Given the description of an element on the screen output the (x, y) to click on. 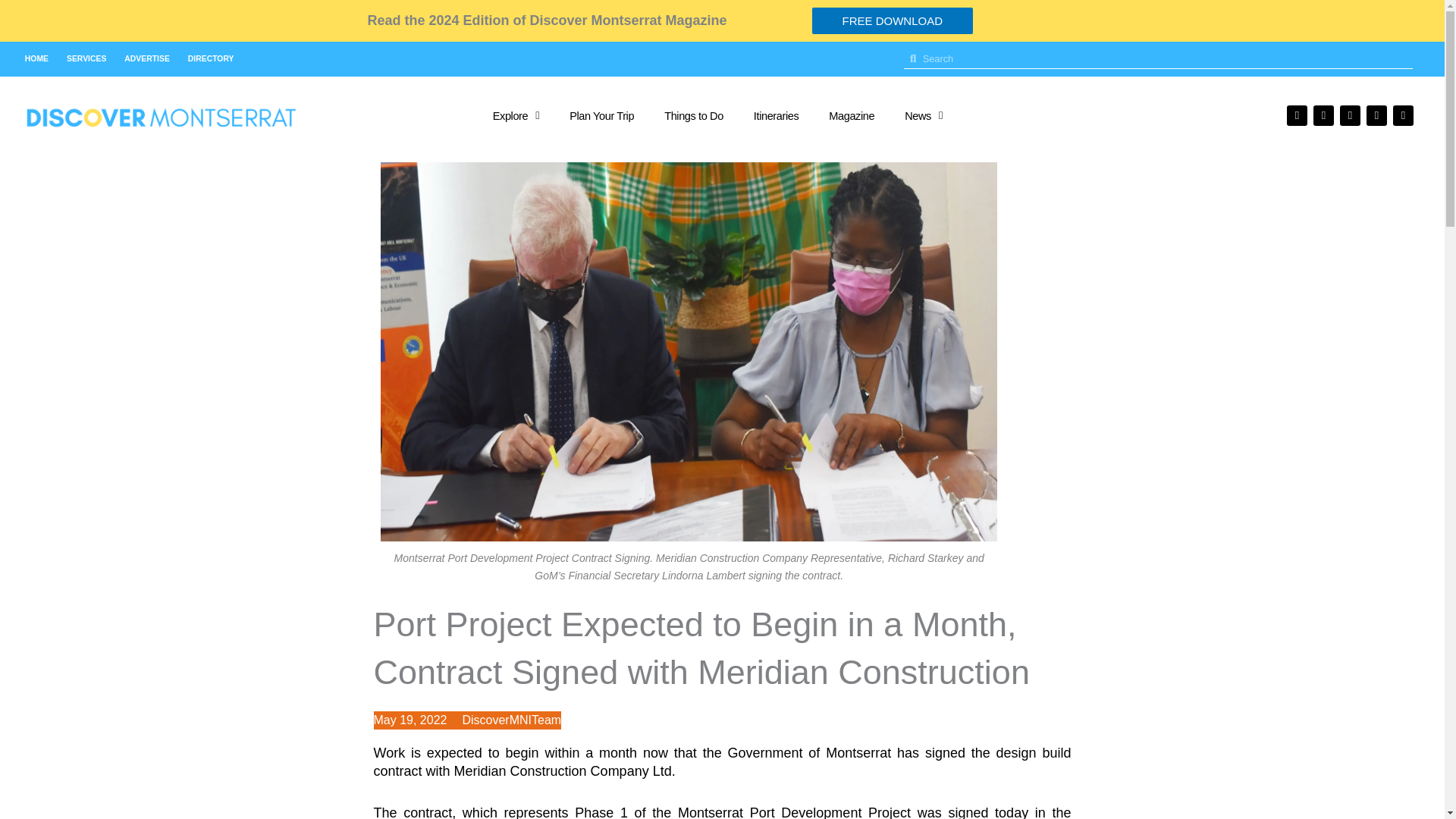
SERVICES (86, 58)
Things to Do (693, 115)
FREE DOWNLOAD (891, 20)
Itineraries (775, 115)
Plan Your Trip (601, 115)
ADVERTISE (146, 58)
DIRECTORY (211, 58)
Magazine (851, 115)
Explore (515, 115)
News (923, 115)
HOME (37, 58)
